Given the description of an element on the screen output the (x, y) to click on. 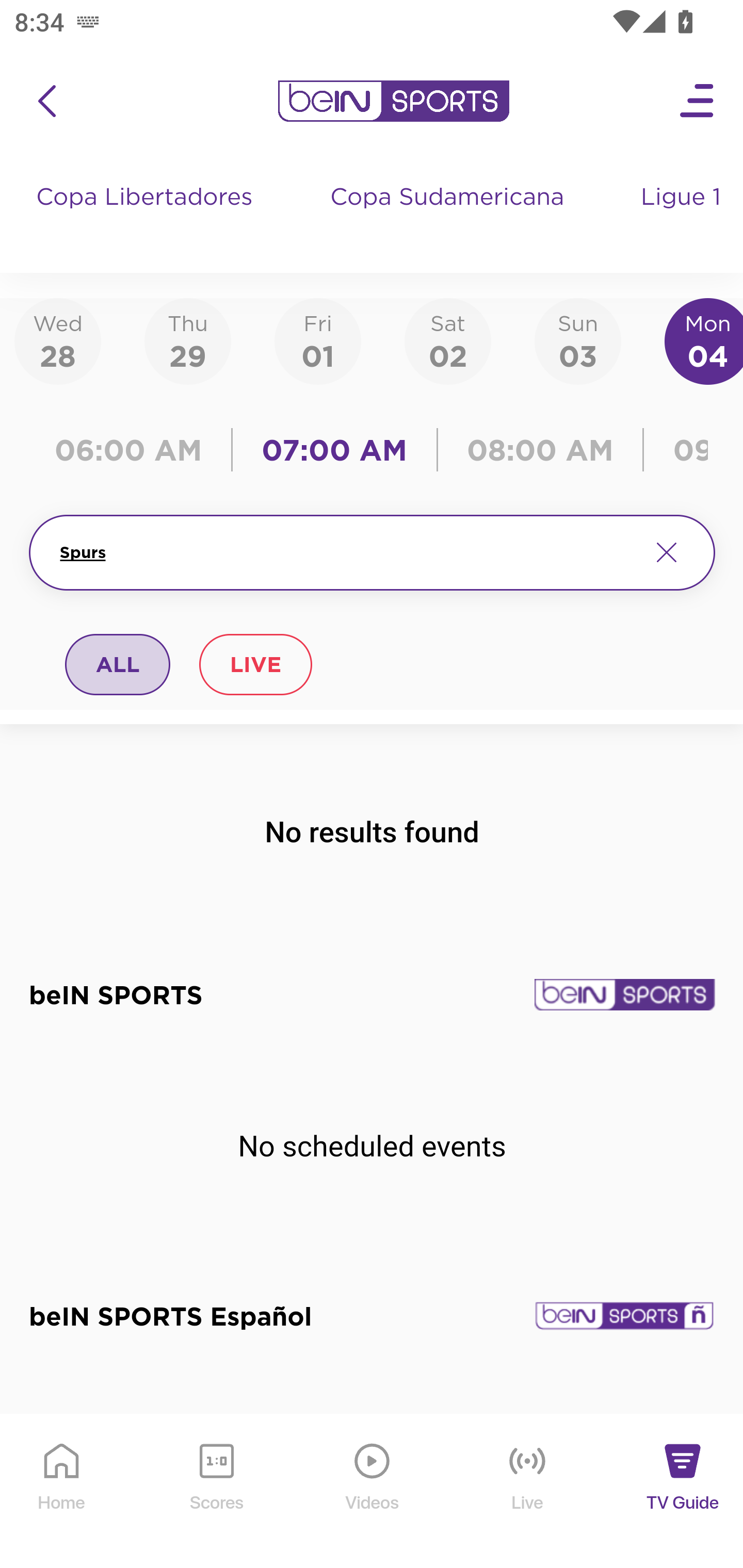
en-us?platform=mobile_android bein logo (392, 101)
icon back (46, 101)
Open Menu Icon (697, 101)
Copa Libertadores (146, 216)
Copa Sudamericana (448, 216)
Ligue 1 (682, 216)
Wed28 (58, 340)
Thu29 (187, 340)
Fri01 (318, 340)
Sat02 (447, 340)
Sun03 (578, 340)
Mon04 (703, 340)
06:00 AM (135, 449)
07:00 AM (334, 449)
08:00 AM (540, 449)
Spurs (346, 552)
ALL (118, 663)
LIVE (255, 663)
Home Home Icon Home (61, 1491)
Scores Scores Icon Scores (216, 1491)
Videos Videos Icon Videos (372, 1491)
TV Guide TV Guide Icon TV Guide (682, 1491)
